Given the description of an element on the screen output the (x, y) to click on. 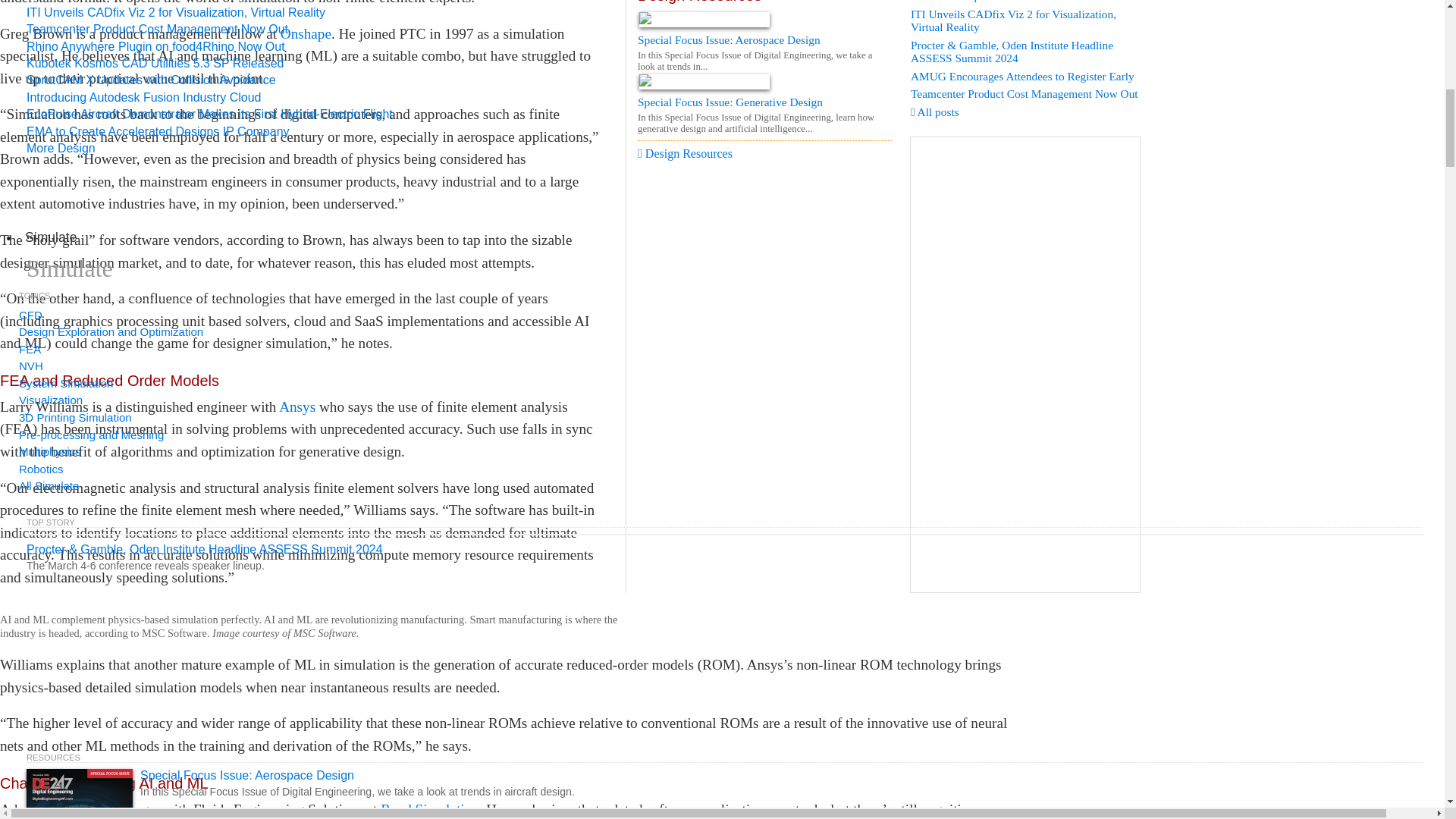
Special Focus Issue: Aerospace Design (764, 51)
Special Focus Issue: Generative Design (764, 113)
